Given the description of an element on the screen output the (x, y) to click on. 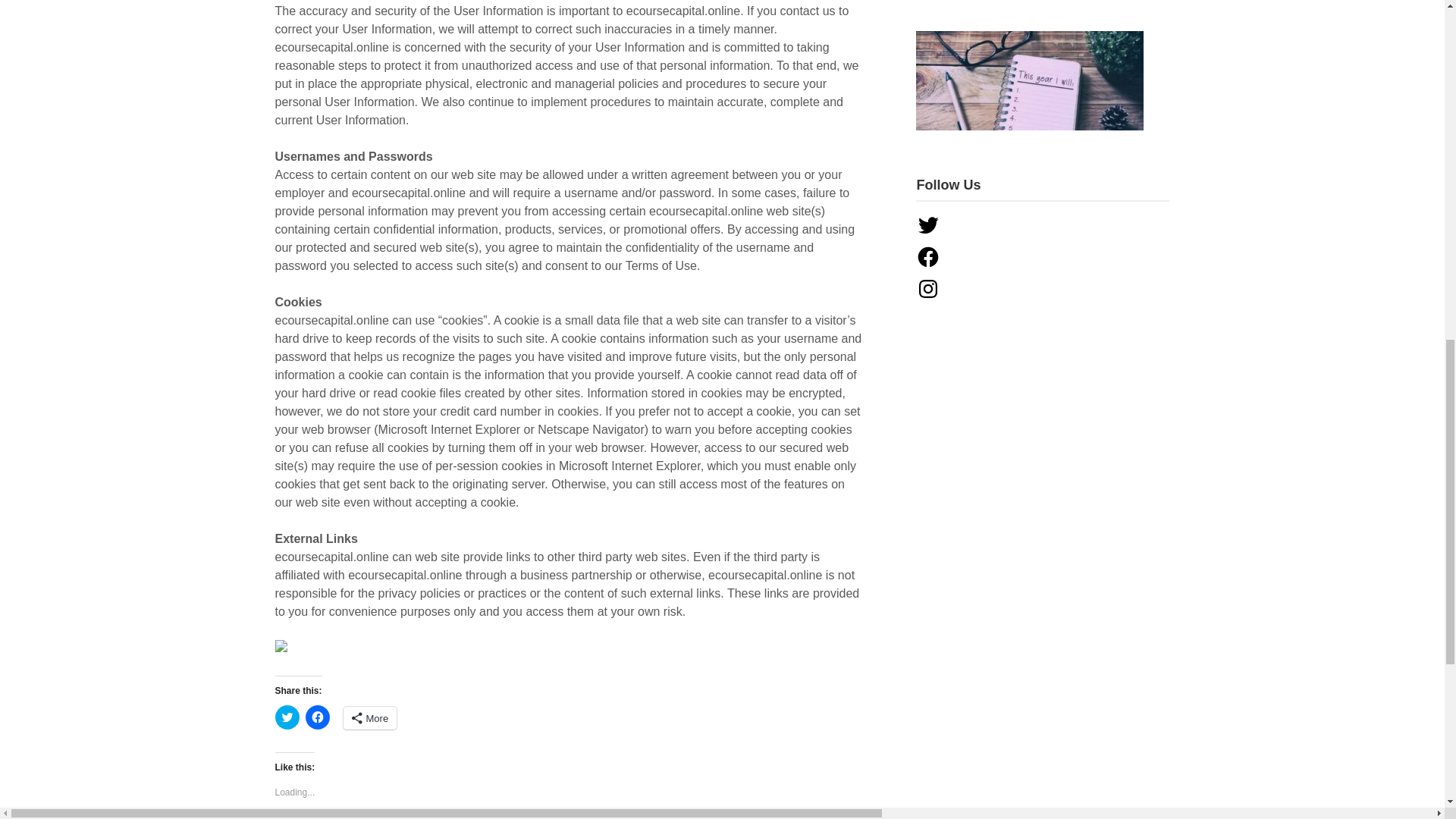
More (369, 717)
Twitter (927, 224)
Click to share on Facebook (316, 717)
Instagram (927, 288)
Click to share on Twitter (286, 717)
Facebook (927, 256)
